Given the description of an element on the screen output the (x, y) to click on. 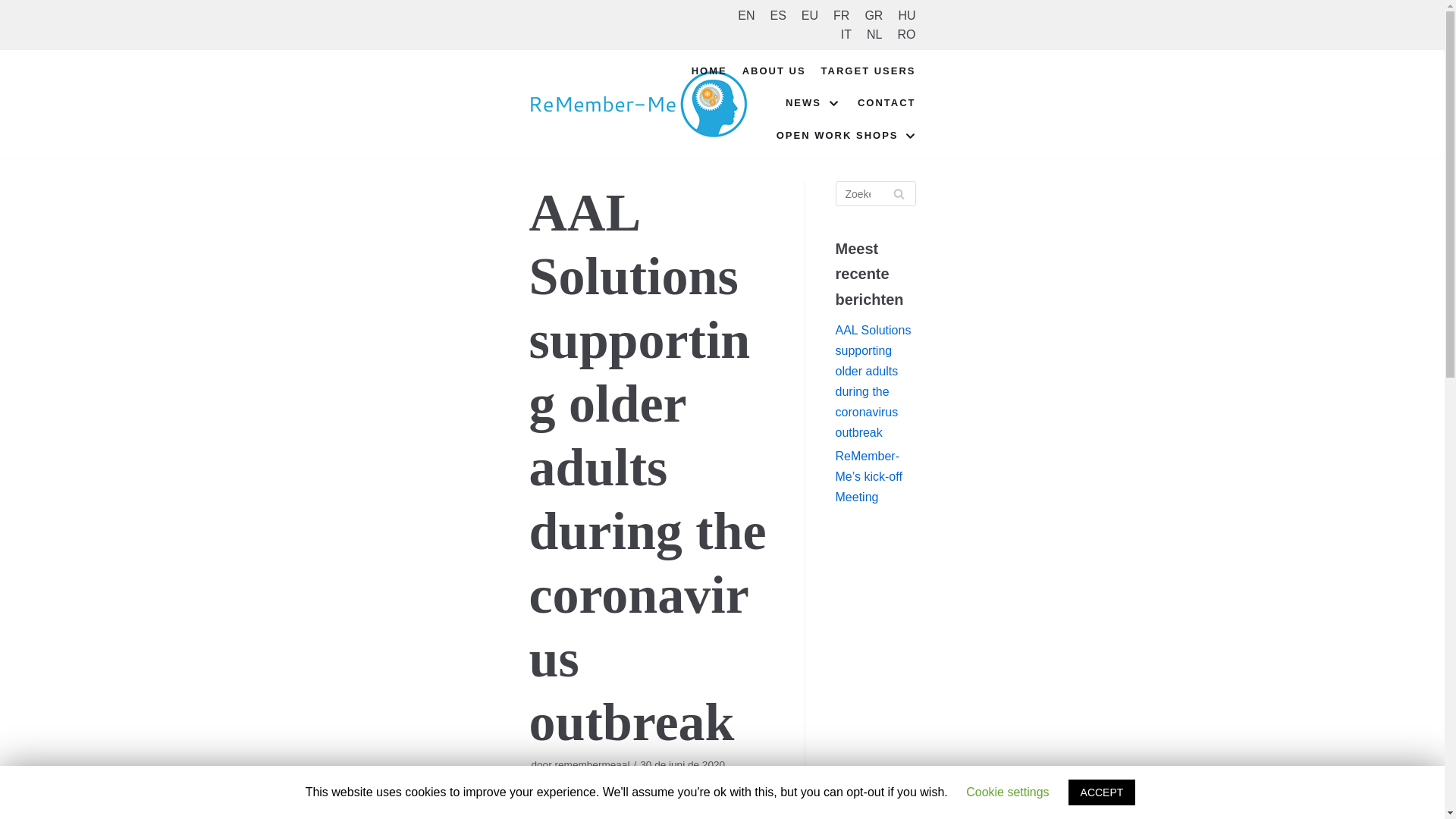
GR (873, 15)
Berichten van remembermeaal (591, 764)
CONTACT (886, 103)
TARGET USERS (868, 71)
ABOUT US (774, 71)
Zoeken (897, 193)
NEWS (814, 103)
ReMember-Me (638, 103)
RO (906, 34)
Zoeken (897, 193)
Meteen naar de inhoud (15, 7)
HOME (708, 71)
OPEN WORK SHOPS (845, 135)
HU (906, 15)
